Given the description of an element on the screen output the (x, y) to click on. 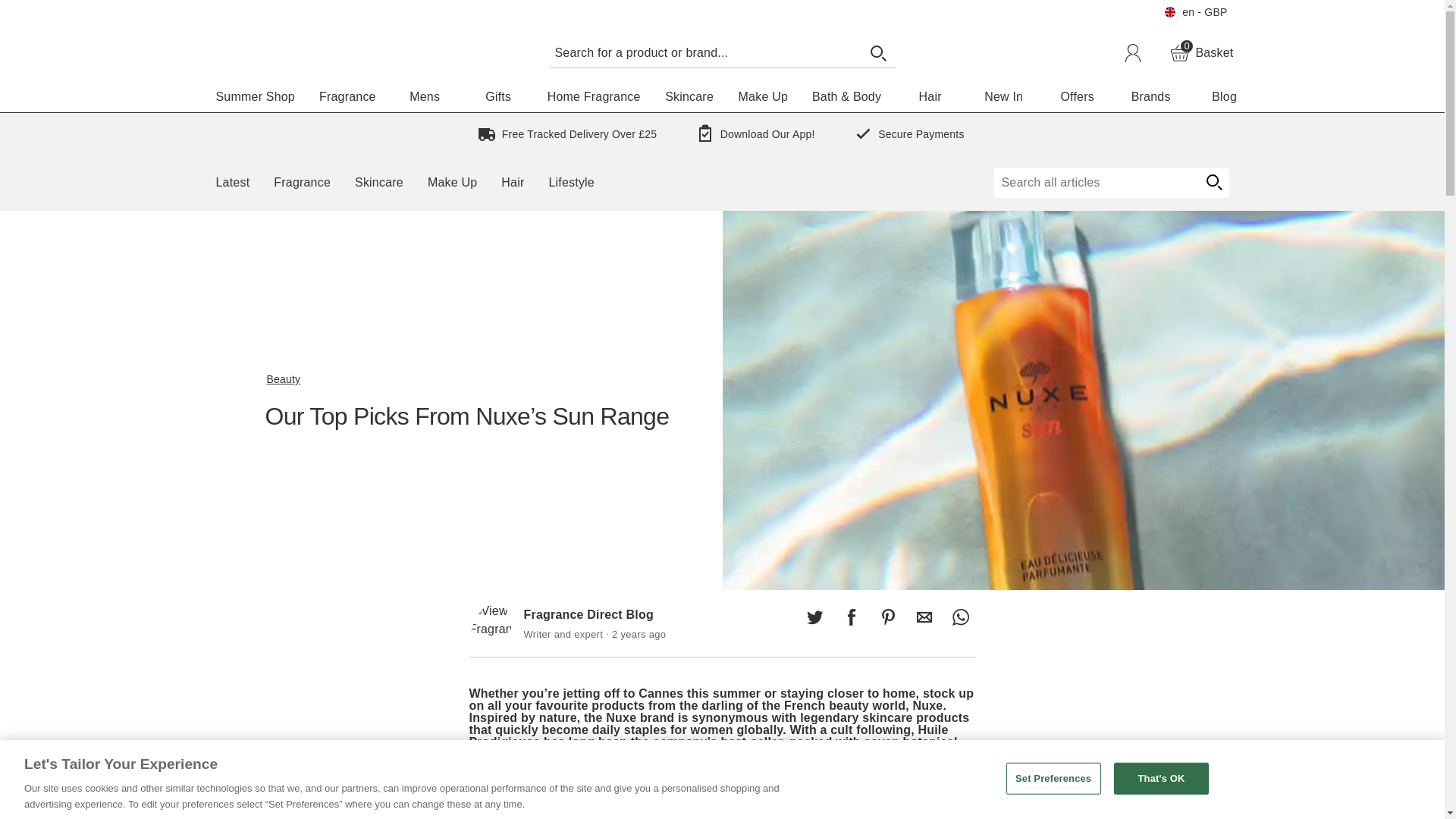
Fragrance (347, 96)
Skip to main content (1201, 53)
Share this on WhatsApp (56, 9)
Share this on Pinterest (959, 616)
start article search (887, 616)
Share this by Email (1213, 182)
Search Articles (923, 616)
Summer Shop (1095, 182)
Share this on Twitter (254, 96)
Search for a product or brand... (814, 616)
Share this on Facebook (704, 52)
en - GBP (850, 616)
